Given the description of an element on the screen output the (x, y) to click on. 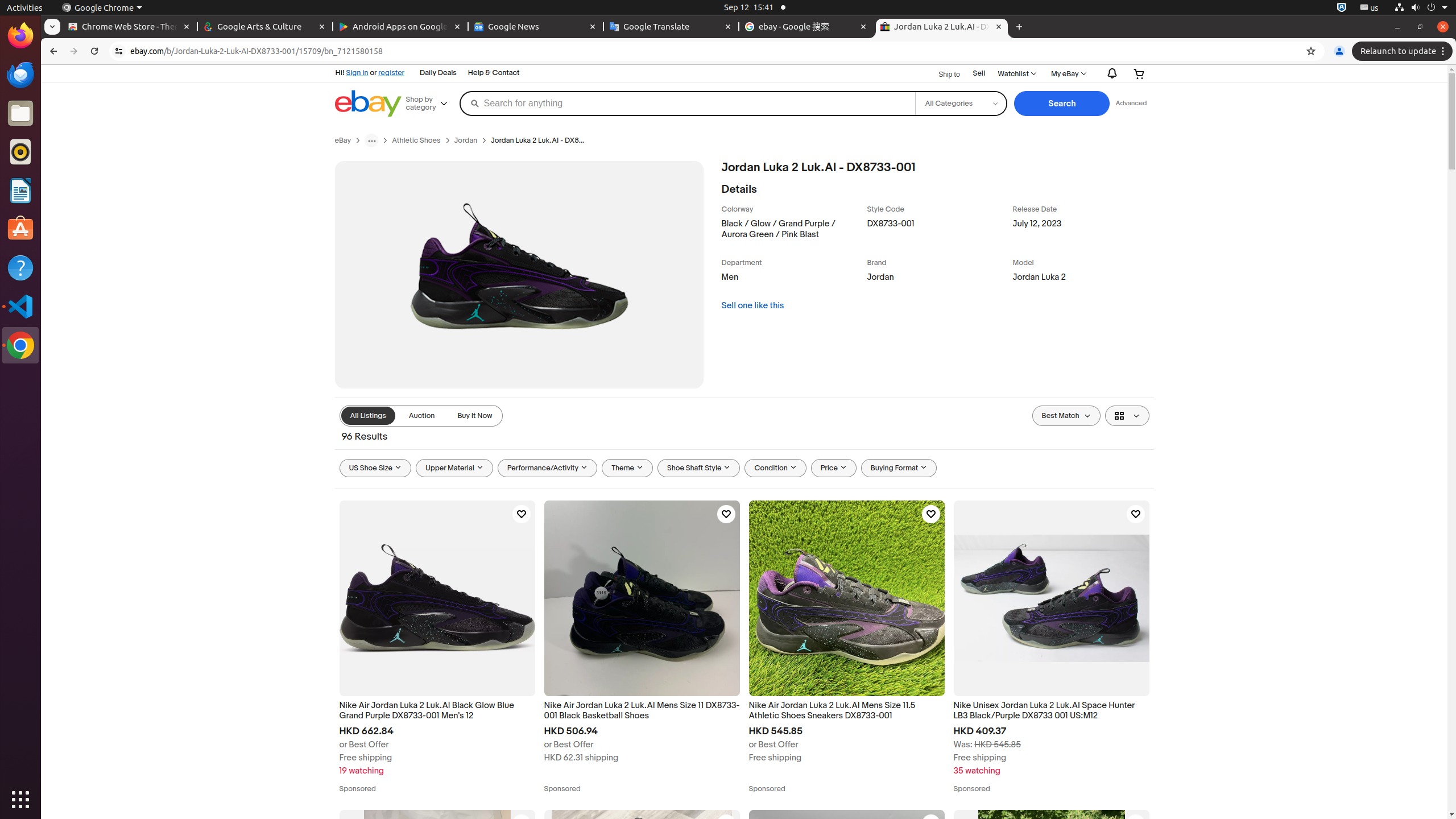
Men Element type: table-cell (791, 279)
Buying Format Element type: push-button (898, 467)
All Listings Element type: link (367, 415)
Visual Studio Code Element type: push-button (20, 306)
Athletic Shoes Element type: link (415, 140)
